Given the description of an element on the screen output the (x, y) to click on. 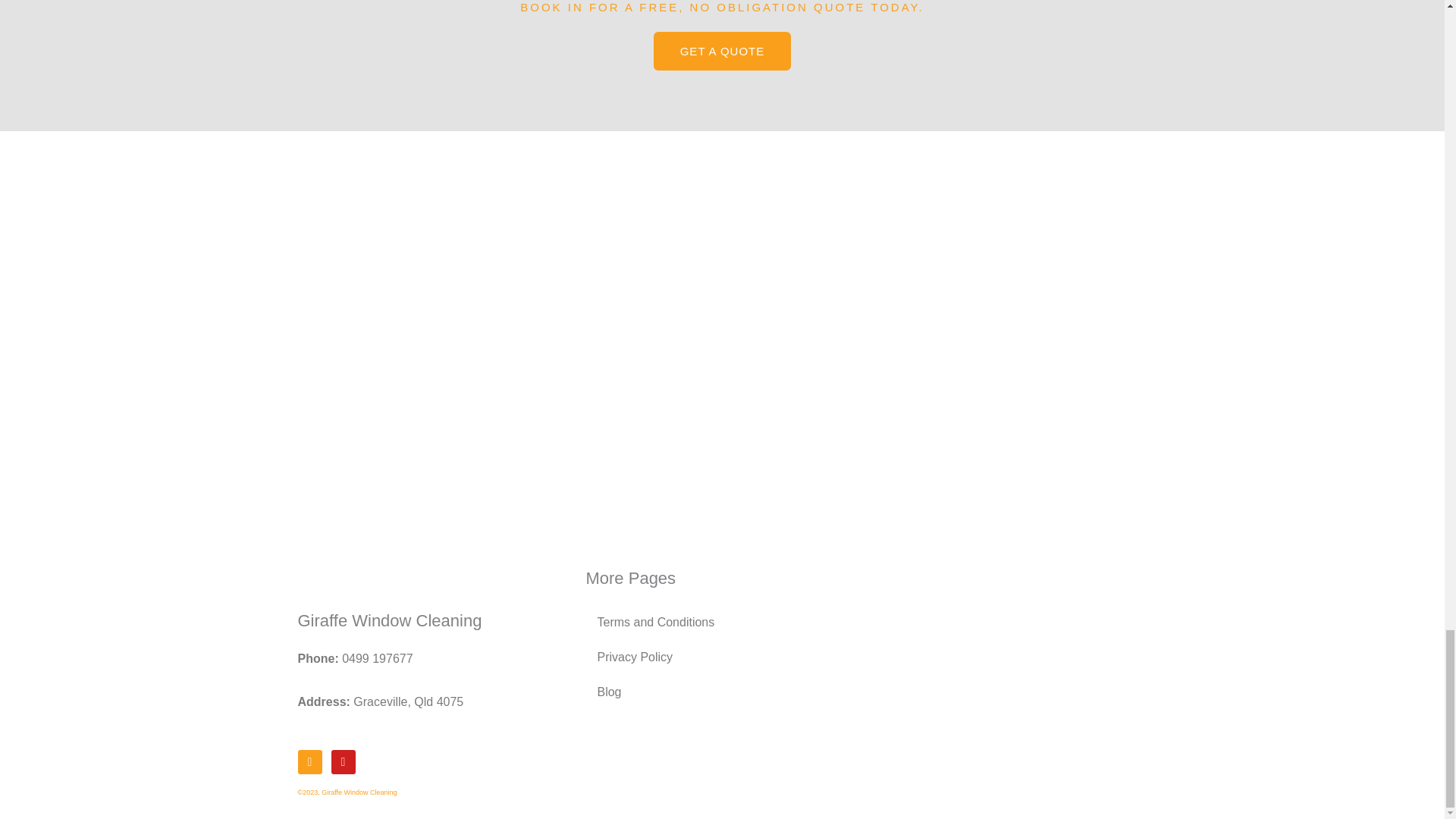
Blog (722, 692)
GET A QUOTE (722, 50)
Graceville, Brisbane (1010, 638)
Terms and Conditions (722, 622)
Privacy Policy (722, 656)
Bulimba qld (721, 294)
